Given the description of an element on the screen output the (x, y) to click on. 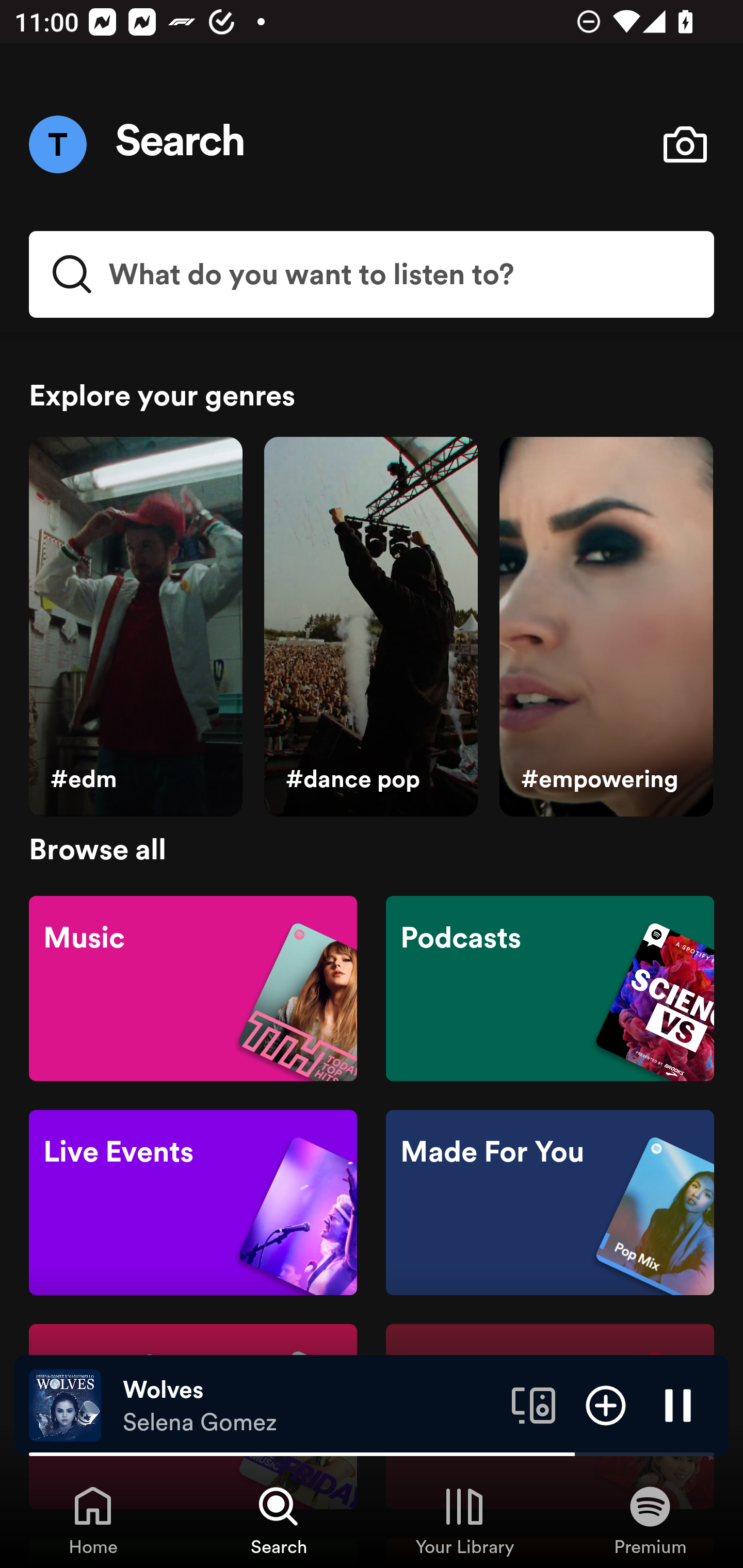
Menu (57, 144)
Open camera (685, 145)
Search (180, 144)
#edm (135, 626)
#dance pop (370, 626)
#empowering (606, 626)
Music (192, 987)
Podcasts (549, 987)
Live Events (192, 1202)
Made For You (549, 1202)
Wolves Selena Gomez (309, 1405)
The cover art of the currently playing track (64, 1404)
Connect to a device. Opens the devices menu (533, 1404)
Add item (605, 1404)
Pause (677, 1404)
Home, Tab 1 of 4 Home Home (92, 1519)
Search, Tab 2 of 4 Search Search (278, 1519)
Your Library, Tab 3 of 4 Your Library Your Library (464, 1519)
Premium, Tab 4 of 4 Premium Premium (650, 1519)
